Given the description of an element on the screen output the (x, y) to click on. 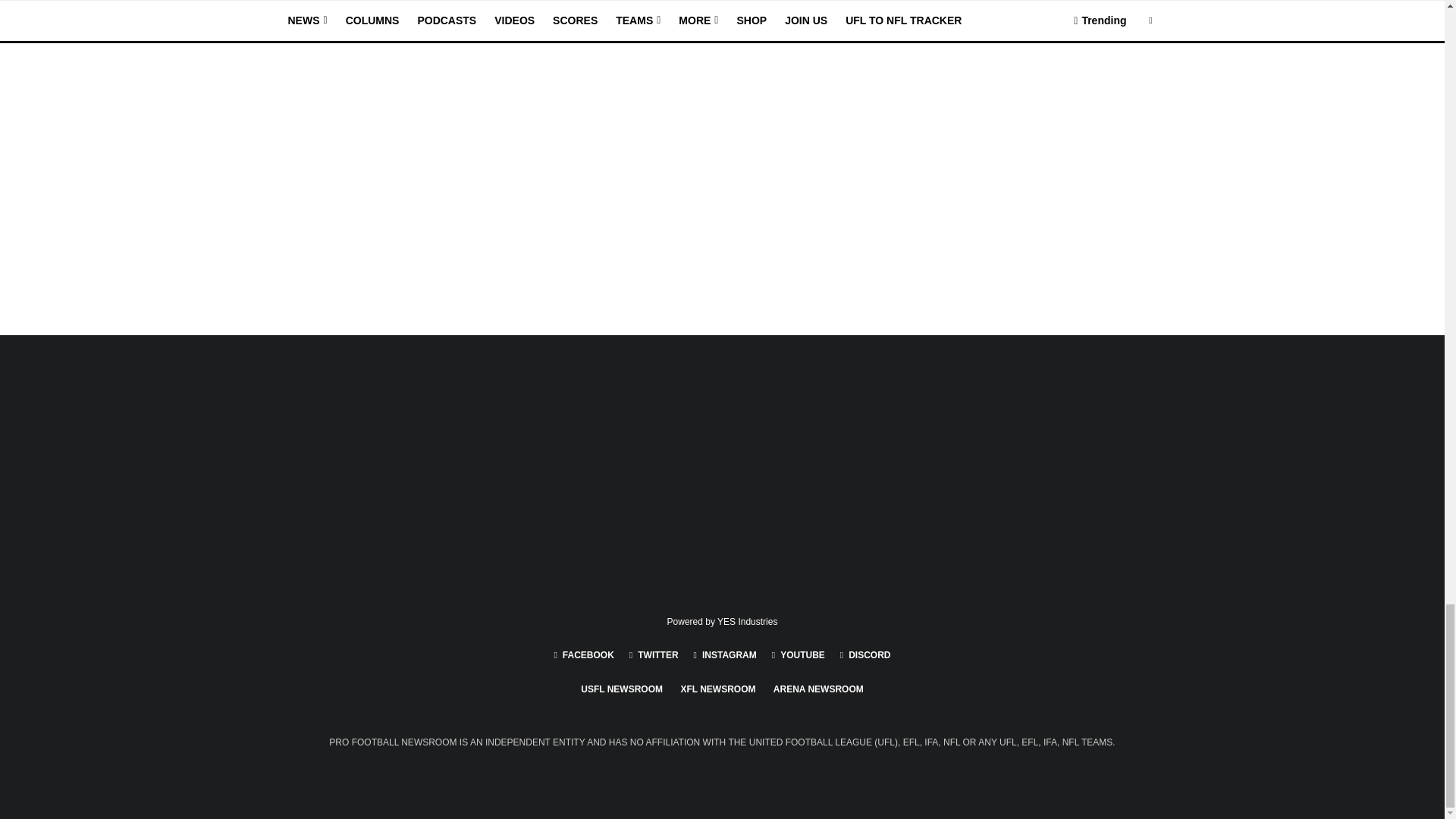
Comment Form (571, 99)
